Given the description of an element on the screen output the (x, y) to click on. 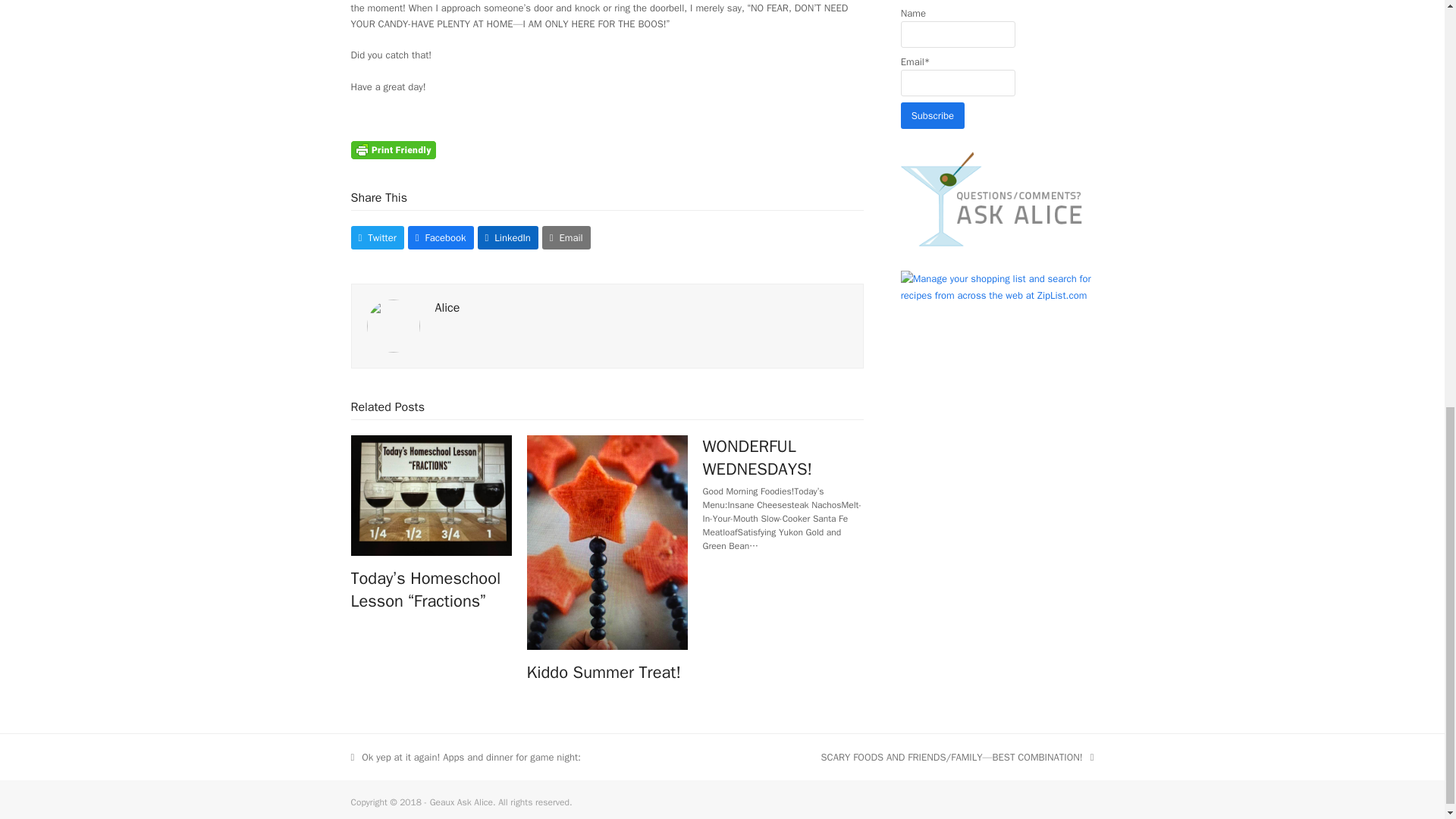
Subscribe (932, 115)
Kiddo Summer Treat! (607, 541)
Visit Author Page (393, 324)
Visit Author Page (447, 307)
